Given the description of an element on the screen output the (x, y) to click on. 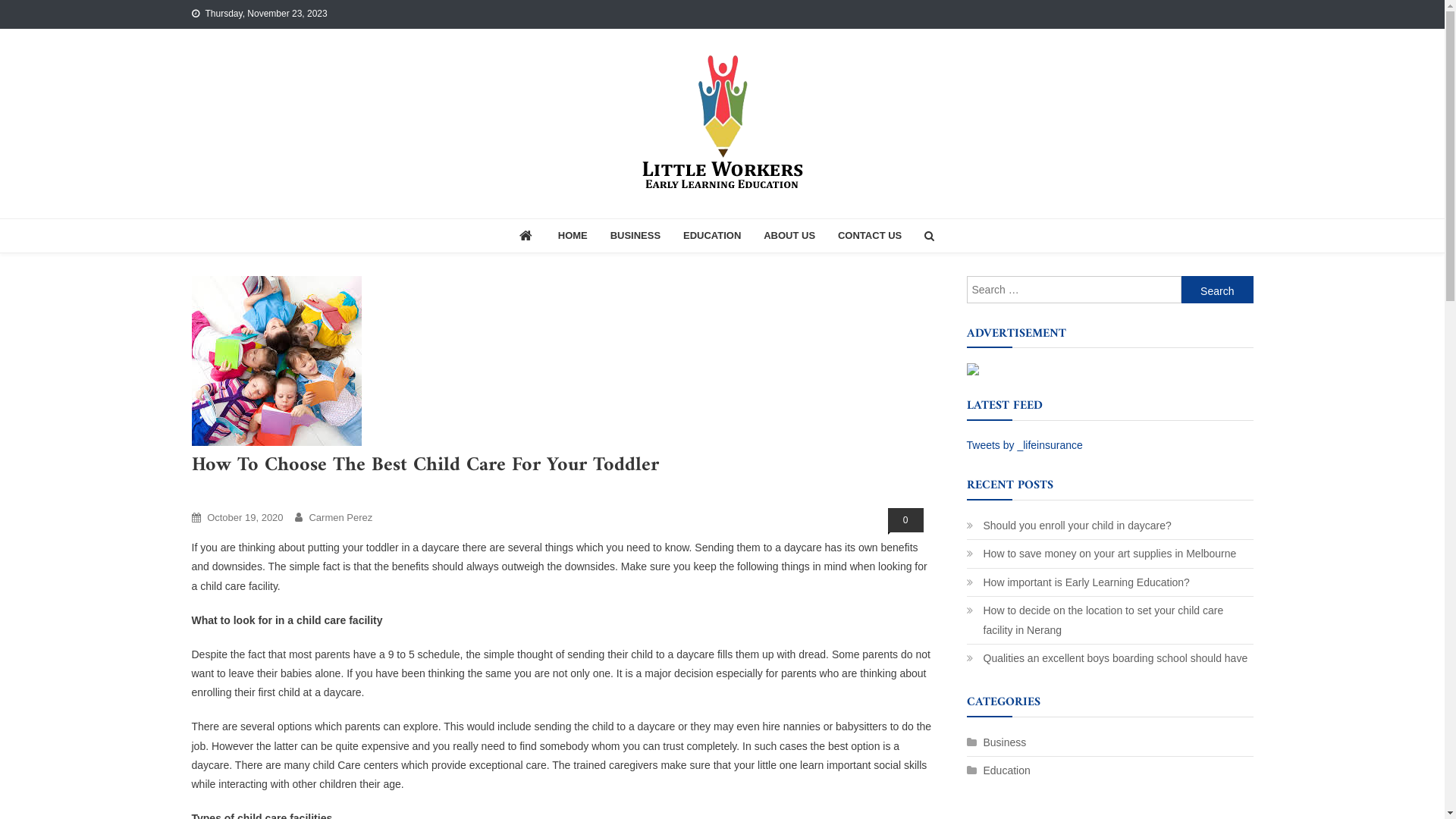
How to save money on your art supplies in Melbourne Element type: text (1101, 553)
Search Element type: text (1217, 289)
BUSINESS Element type: text (635, 235)
CONTACT US Element type: text (869, 235)
Search Element type: text (901, 288)
Should you enroll your child in daycare? Element type: text (1068, 525)
Qualities an excellent boys boarding school should have Element type: text (1106, 658)
How important is Early Learning Education? Element type: text (1077, 582)
October 19, 2020 Element type: text (244, 517)
Education Element type: text (218, 492)
EDUCATION Element type: text (711, 235)
Little Workers Element type: text (271, 218)
Education Element type: text (997, 770)
Business Element type: text (996, 742)
0 Element type: text (905, 520)
Tweets by _lifeinsurance Element type: text (1024, 445)
Carmen Perez Element type: text (340, 517)
ABOUT US Element type: text (789, 235)
HOME Element type: text (572, 235)
